Given the description of an element on the screen output the (x, y) to click on. 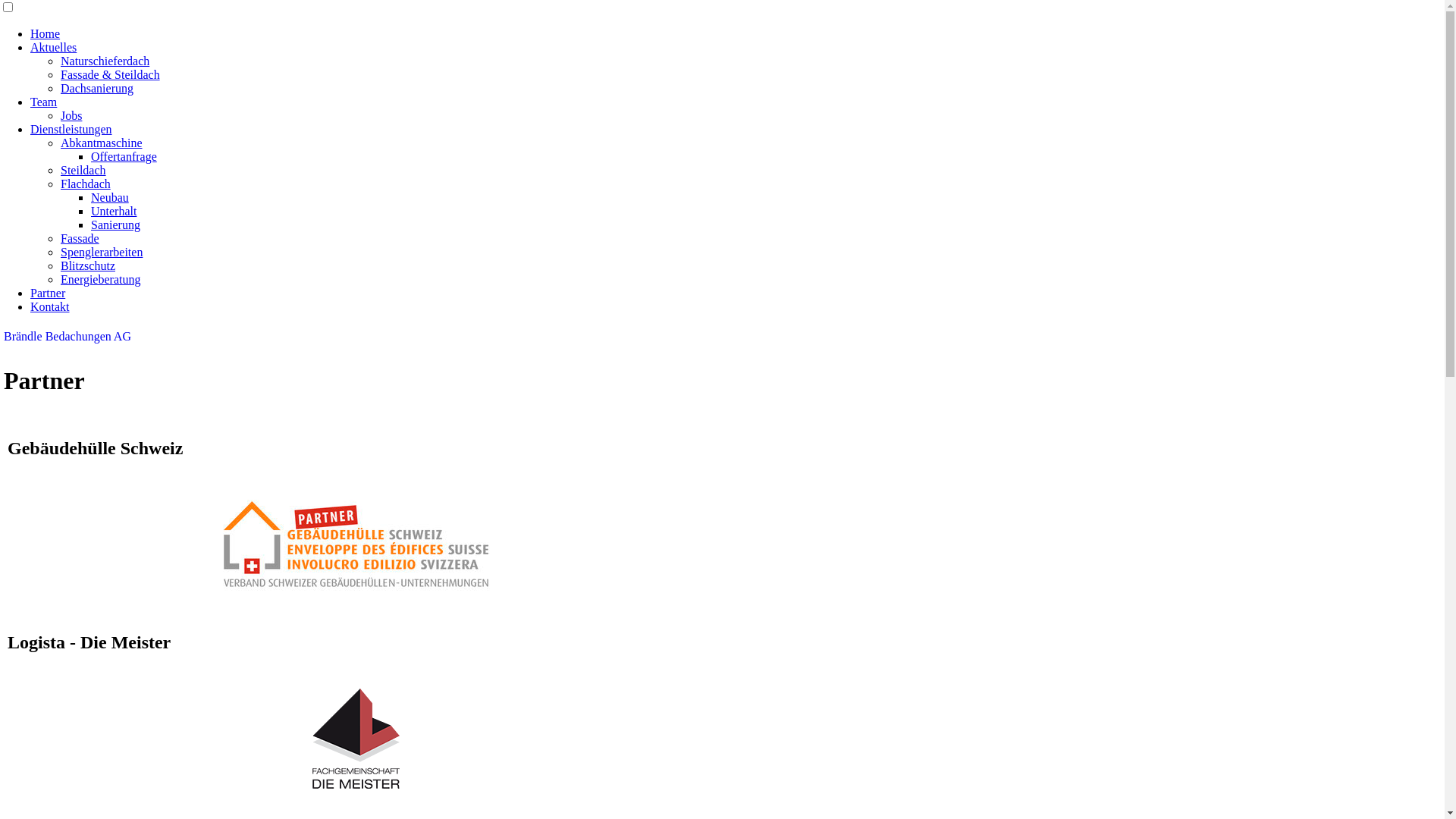
Fassade Element type: text (79, 238)
Dienstleistungen Element type: text (71, 128)
Sanierung Element type: text (115, 224)
Team Element type: text (43, 101)
Jobs Element type: text (70, 115)
Flachdach Element type: text (85, 183)
Partner Element type: text (47, 292)
Home Element type: text (44, 33)
Spenglerarbeiten Element type: text (101, 251)
Naturschieferdach Element type: text (104, 60)
Fassade & Steildach Element type: text (110, 74)
Blitzschutz Element type: text (87, 265)
Aktuelles Element type: text (53, 46)
Offertanfrage Element type: text (123, 156)
Abkantmaschine Element type: text (101, 142)
Neubau Element type: text (109, 197)
Kontakt Element type: text (49, 306)
Energieberatung Element type: text (100, 279)
Unterhalt Element type: text (113, 210)
Steildach Element type: text (83, 169)
Dachsanierung Element type: text (96, 87)
